Given the description of an element on the screen output the (x, y) to click on. 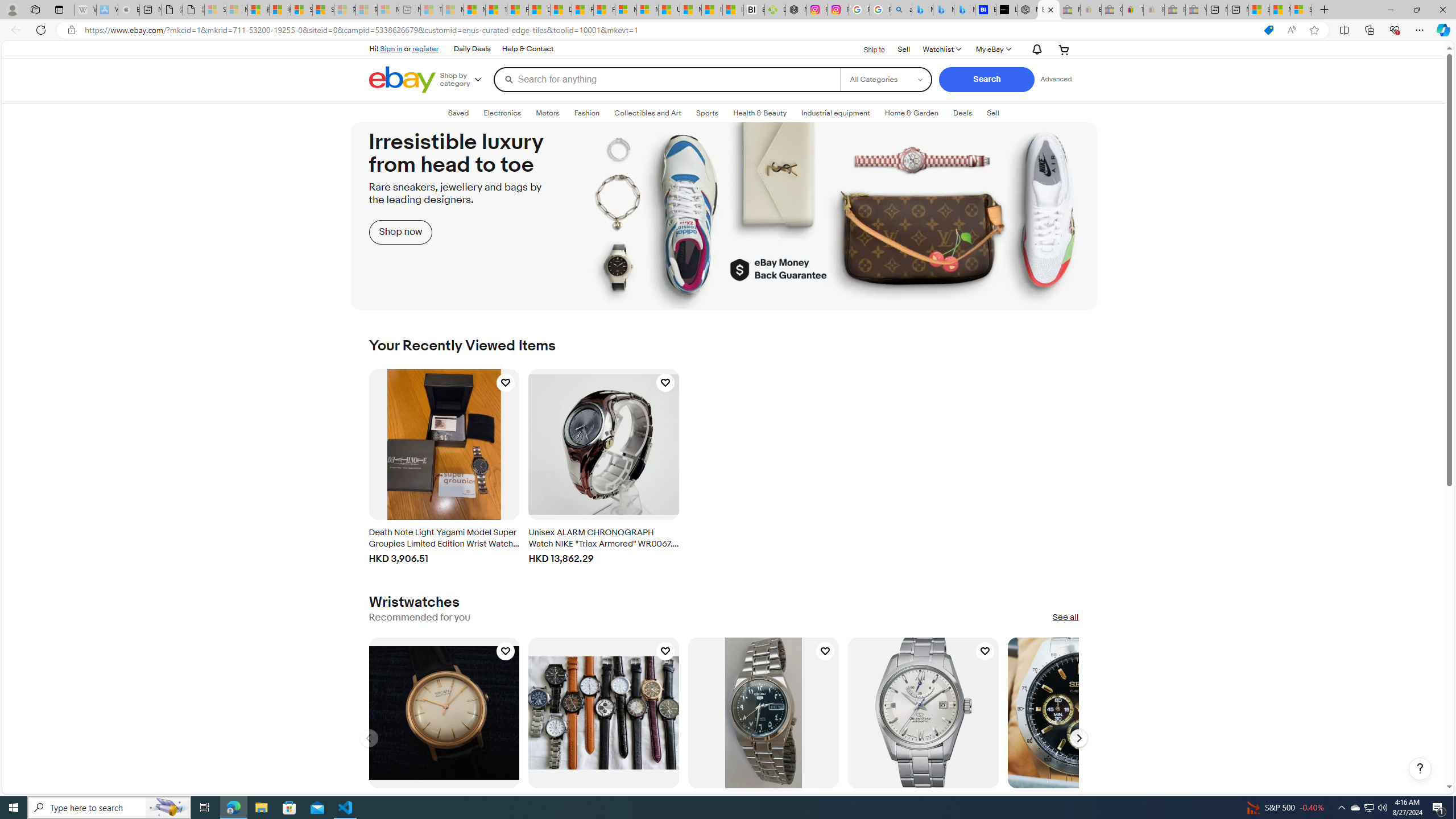
Threats and offensive language policy | eBay (1133, 9)
Motors (547, 112)
Electronics (502, 112)
Help, opens dialogs (1420, 768)
alabama high school quarterback dies - Search (901, 9)
Home & Garden (911, 112)
